Given the description of an element on the screen output the (x, y) to click on. 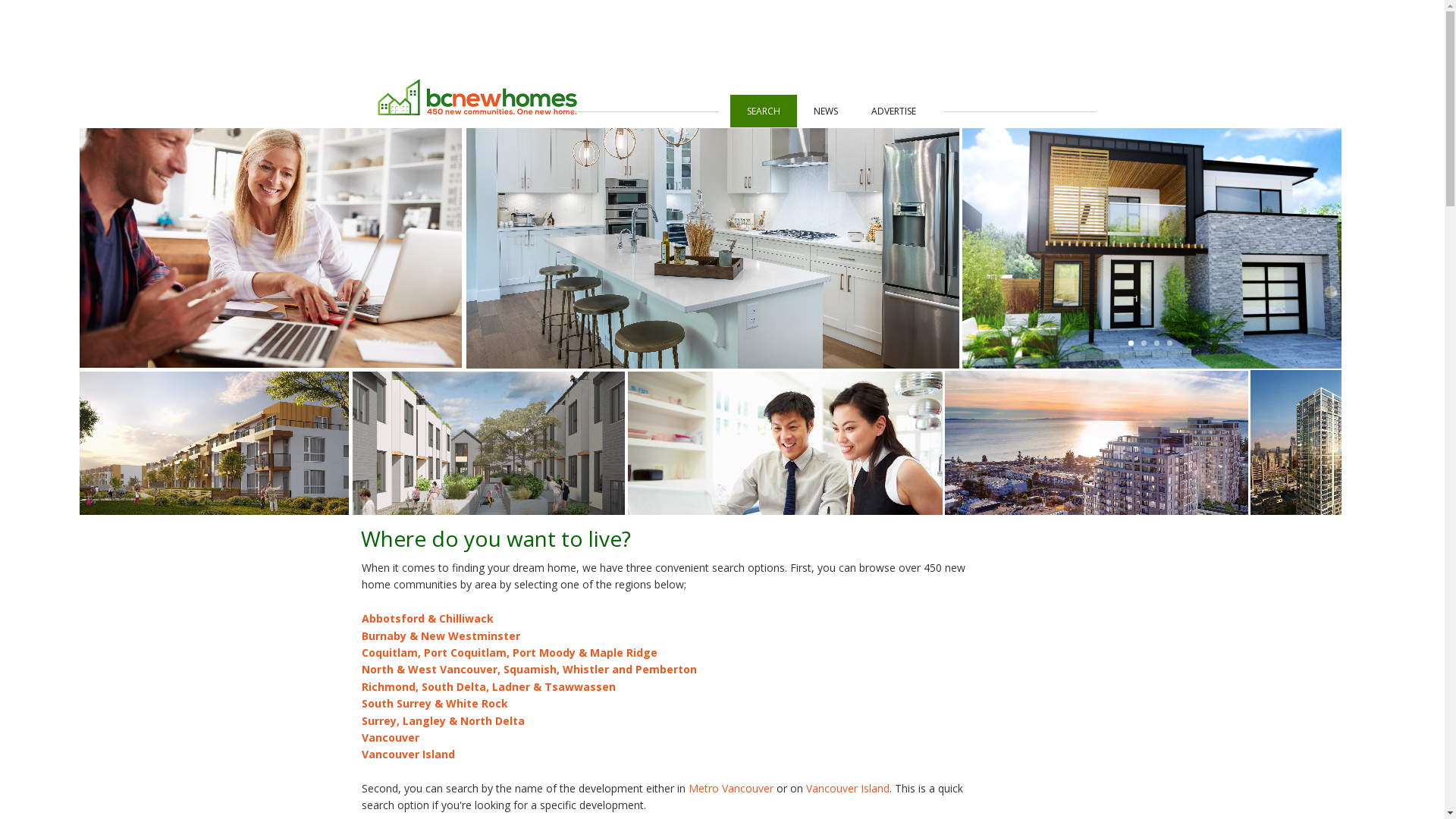
Learn More Element type: text (313, 451)
Vancouver Island Element type: text (846, 788)
NEWS Element type: text (824, 110)
Coquitlam, Port Coquitlam, Port Moody & Maple Ridge Element type: text (508, 652)
North & West Vancouver, Squamish, Whistler and Pemberton Element type: text (528, 669)
Burnaby & New Westminster Element type: text (439, 635)
ADVERTISE Element type: text (892, 110)
Surrey, Langley & North Delta Element type: text (442, 720)
Vancouver Island Element type: text (407, 753)
Larchwood at Burke Mountain Element type: text (410, 392)
Abbotsford & Chilliwack Element type: text (426, 618)
South Surrey & White Rock Element type: text (433, 703)
Metro Vancouver Element type: text (730, 788)
Richmond, South Delta, Ladner & Tsawwassen Element type: text (487, 686)
Vancouver Element type: text (389, 737)
SEARCH Element type: text (762, 110)
